Given the description of an element on the screen output the (x, y) to click on. 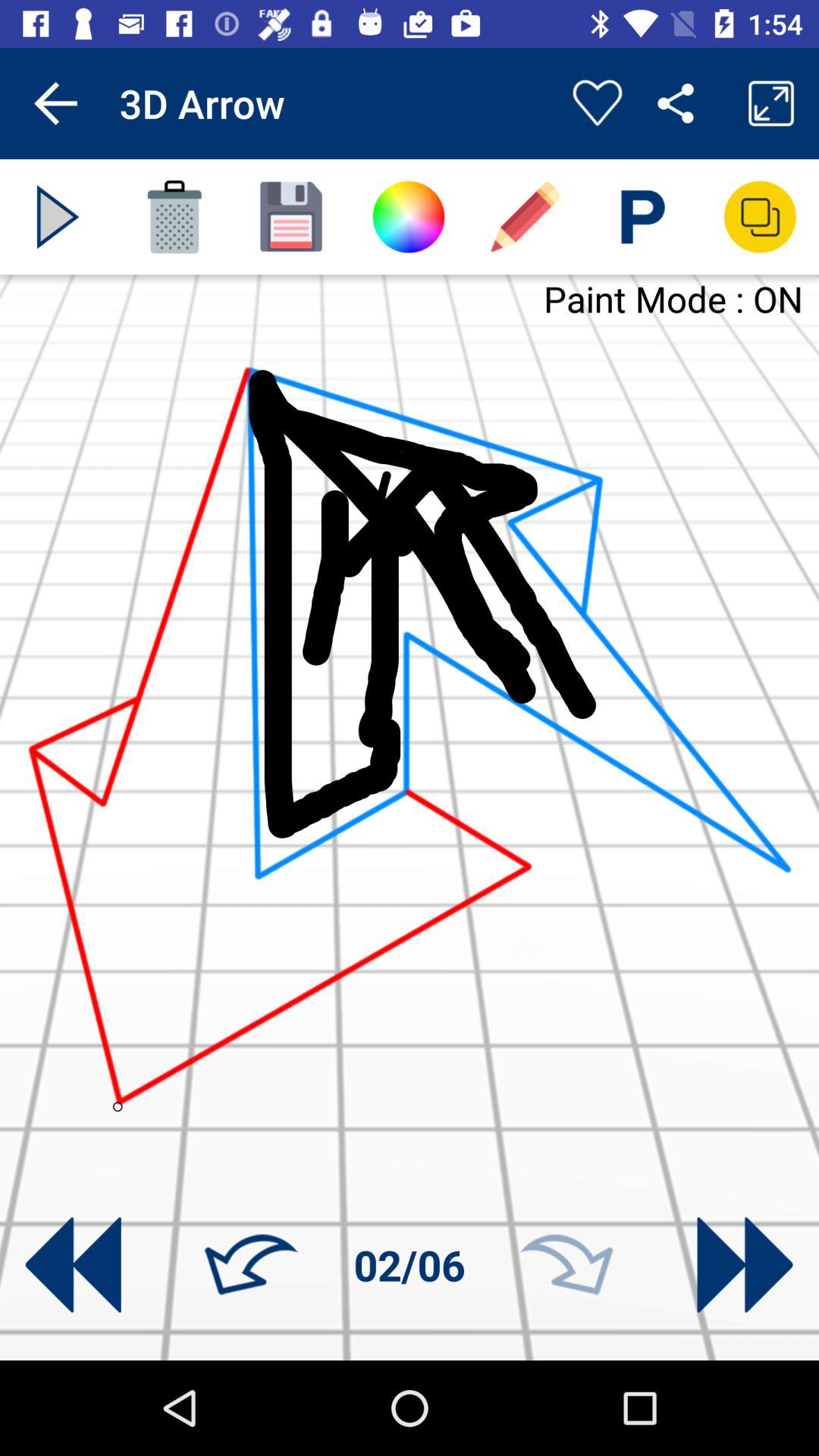
share design (759, 216)
